Given the description of an element on the screen output the (x, y) to click on. 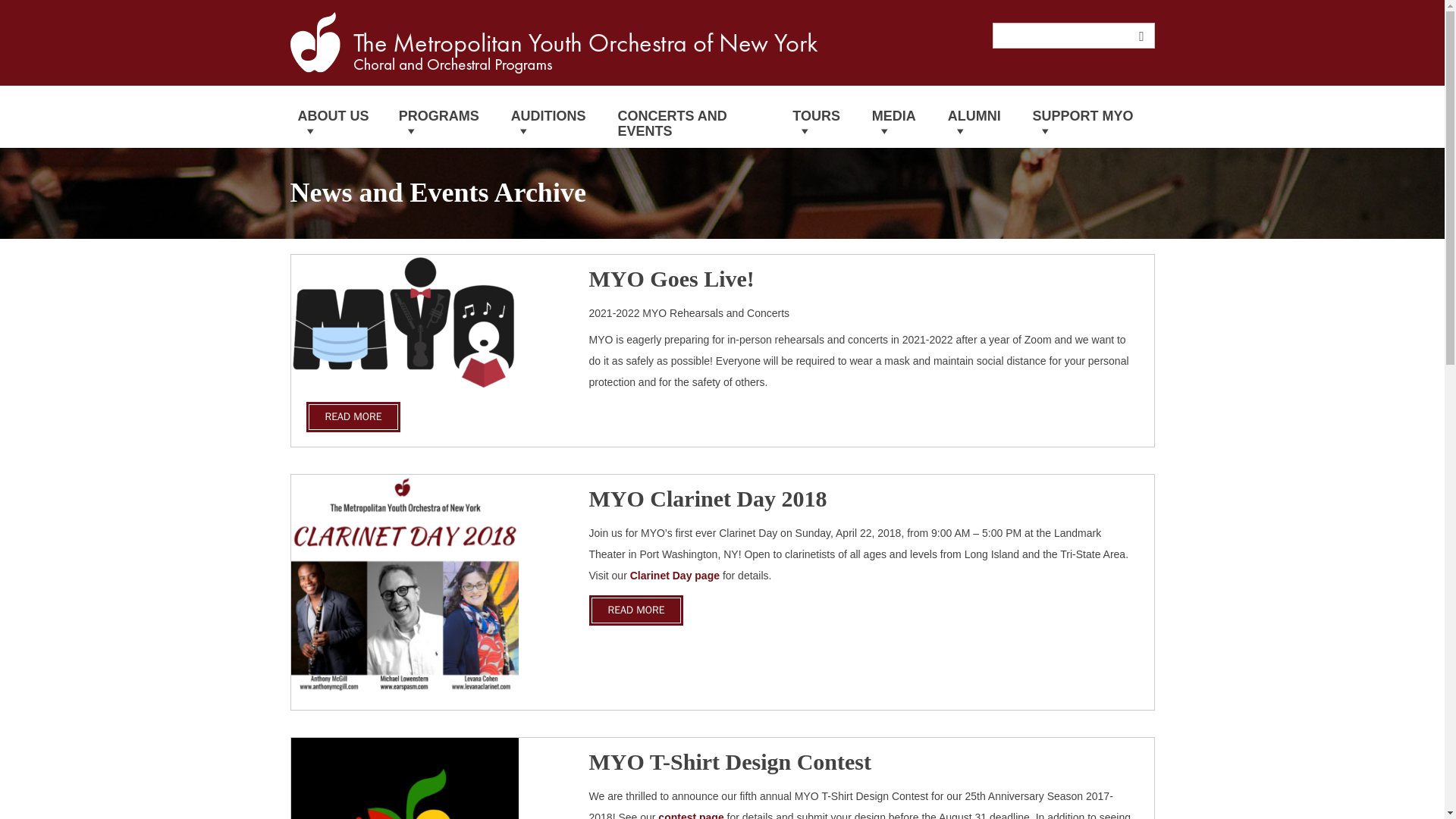
AUDITIONS (556, 116)
Search for: (1072, 35)
PROGRAMS (447, 116)
ABOUT US (339, 116)
